Given the description of an element on the screen output the (x, y) to click on. 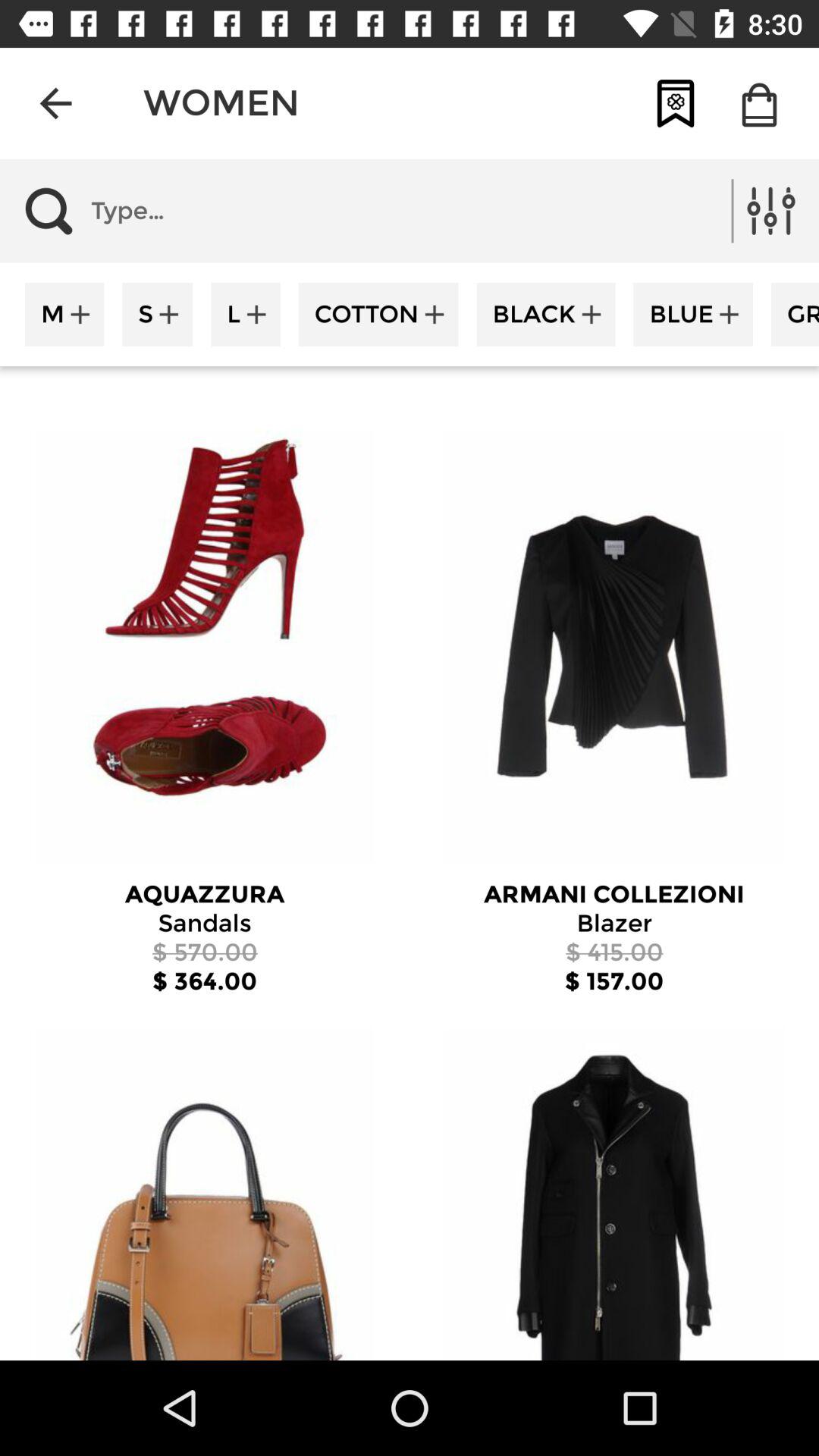
click the s item (157, 314)
